Given the description of an element on the screen output the (x, y) to click on. 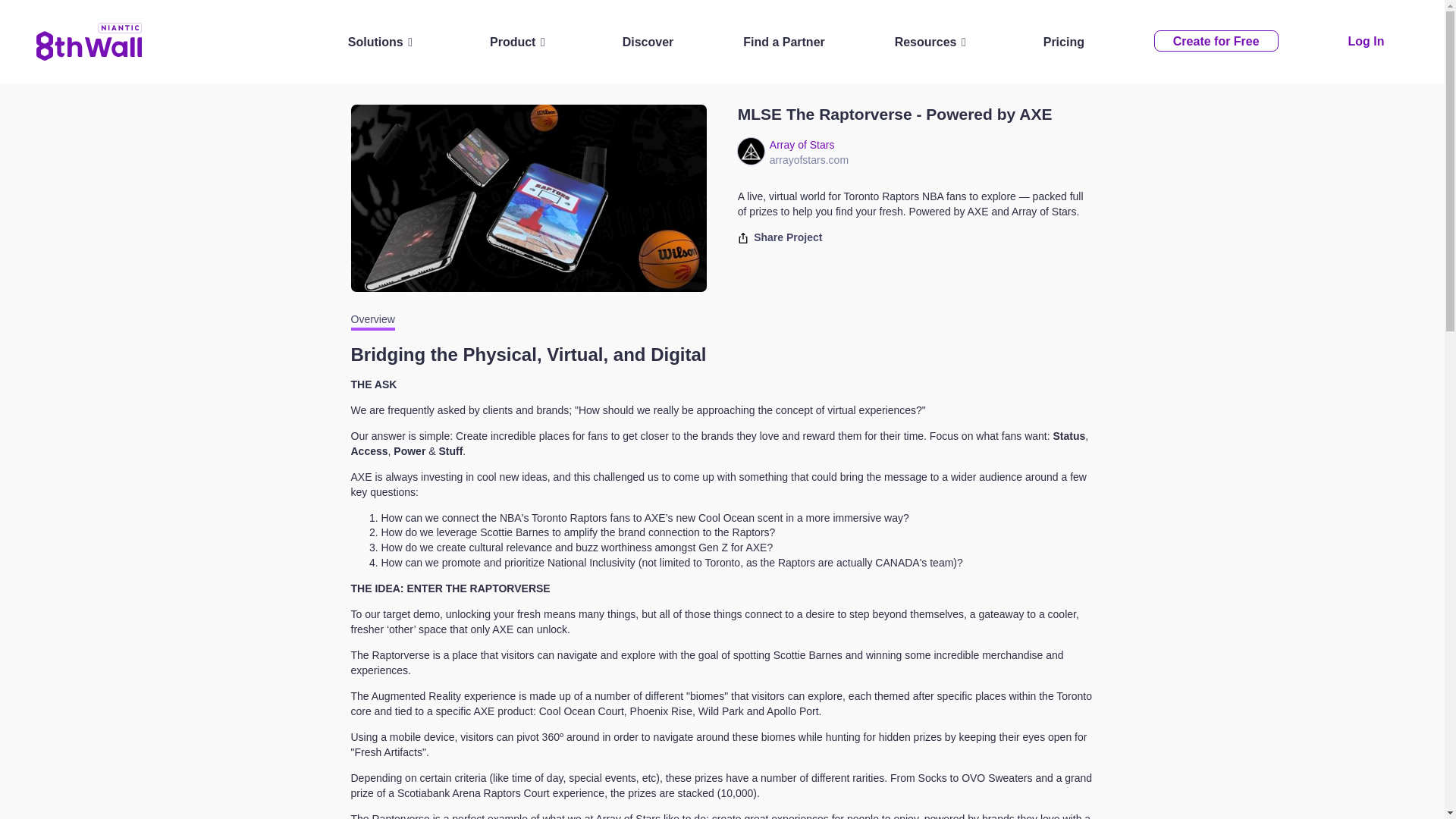
Create for Free (1216, 41)
Pricing (1064, 41)
Log In (1366, 41)
Discover (647, 41)
Find a Partner (783, 41)
